Given the description of an element on the screen output the (x, y) to click on. 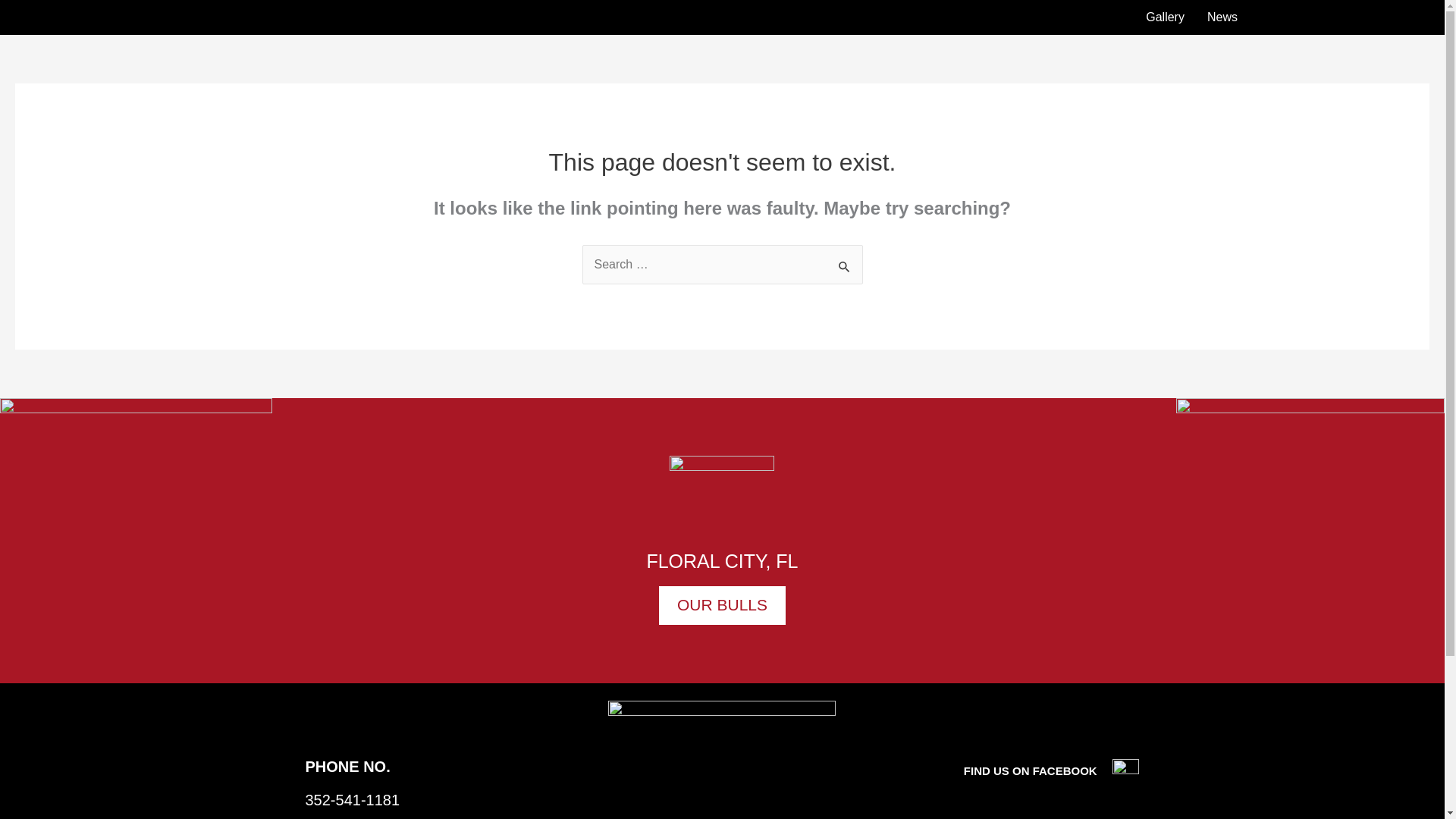
Gallery (1164, 17)
352-541-1181 (351, 799)
OUR BULLS (722, 605)
FIND US ON FACEBOOK      (1051, 770)
News (1222, 17)
